Given the description of an element on the screen output the (x, y) to click on. 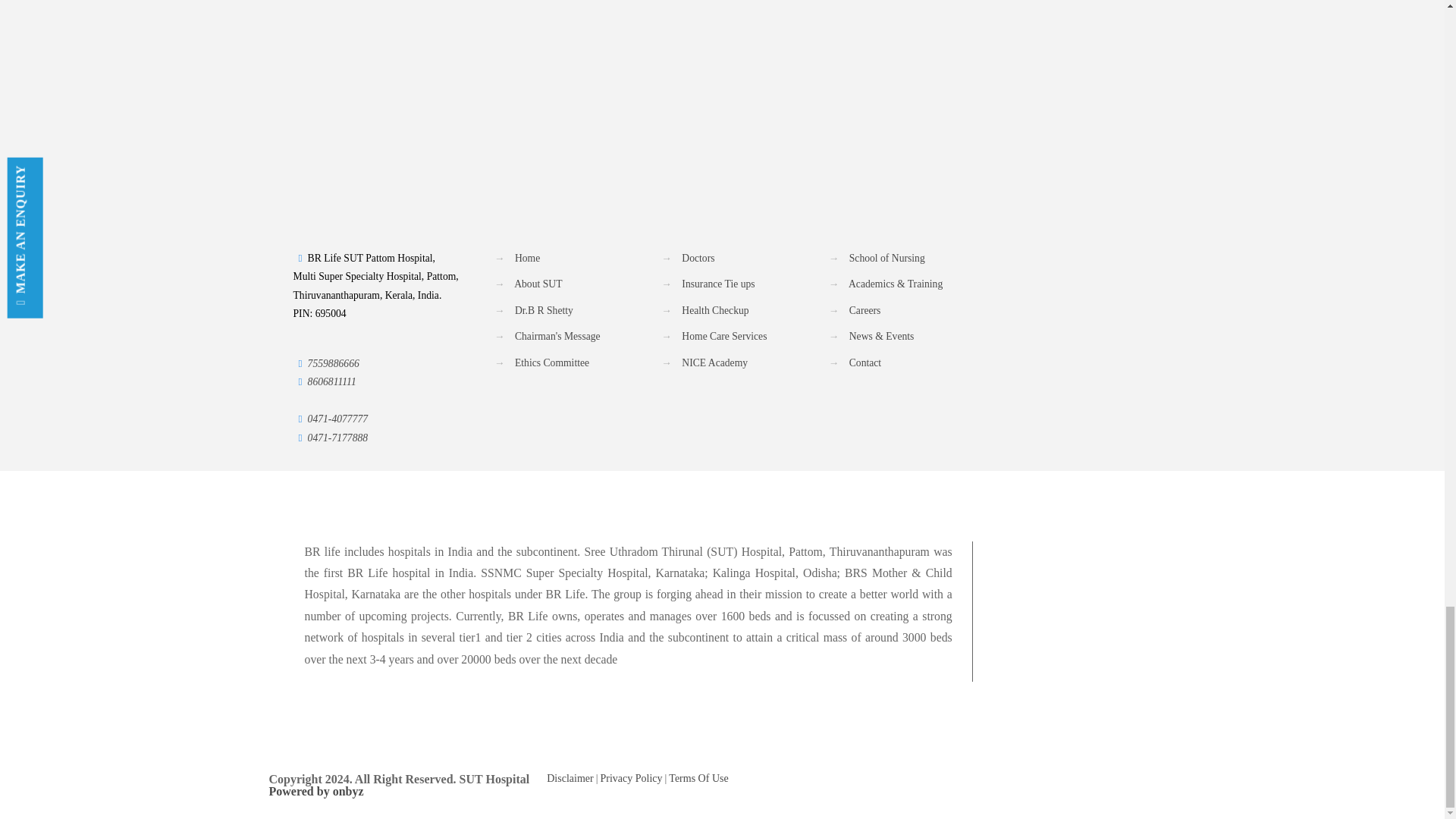
Instagram (1152, 779)
YouTube (1111, 779)
Facebook (1091, 779)
LinkedIn (1132, 779)
